Given the description of an element on the screen output the (x, y) to click on. 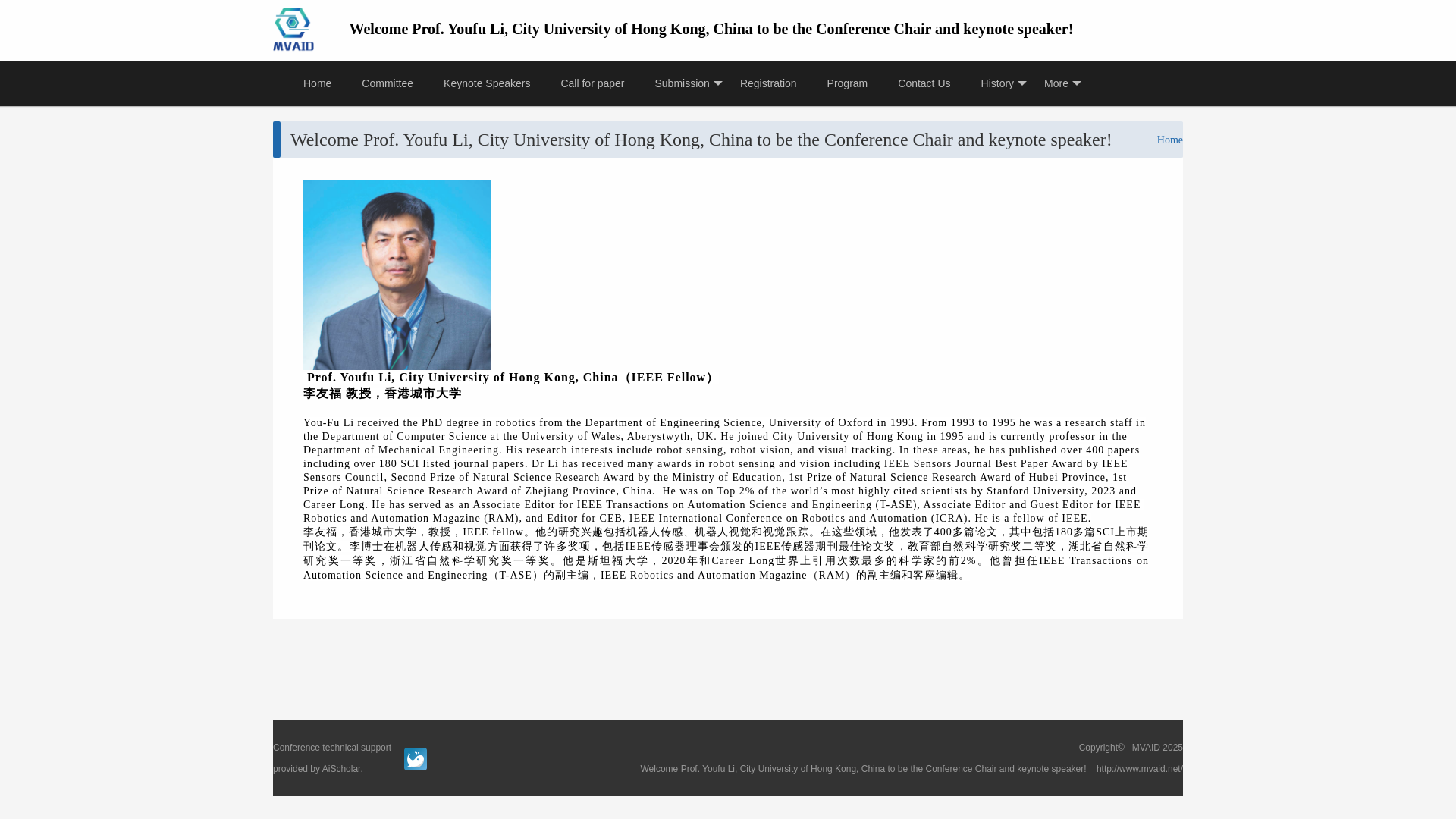
History (997, 83)
Submission (682, 83)
Registration (768, 83)
Keynote Speakers (486, 83)
Home (1169, 139)
More (1056, 83)
Contact Us (923, 83)
Committee (387, 83)
Call for paper (591, 83)
Program (847, 83)
